Given the description of an element on the screen output the (x, y) to click on. 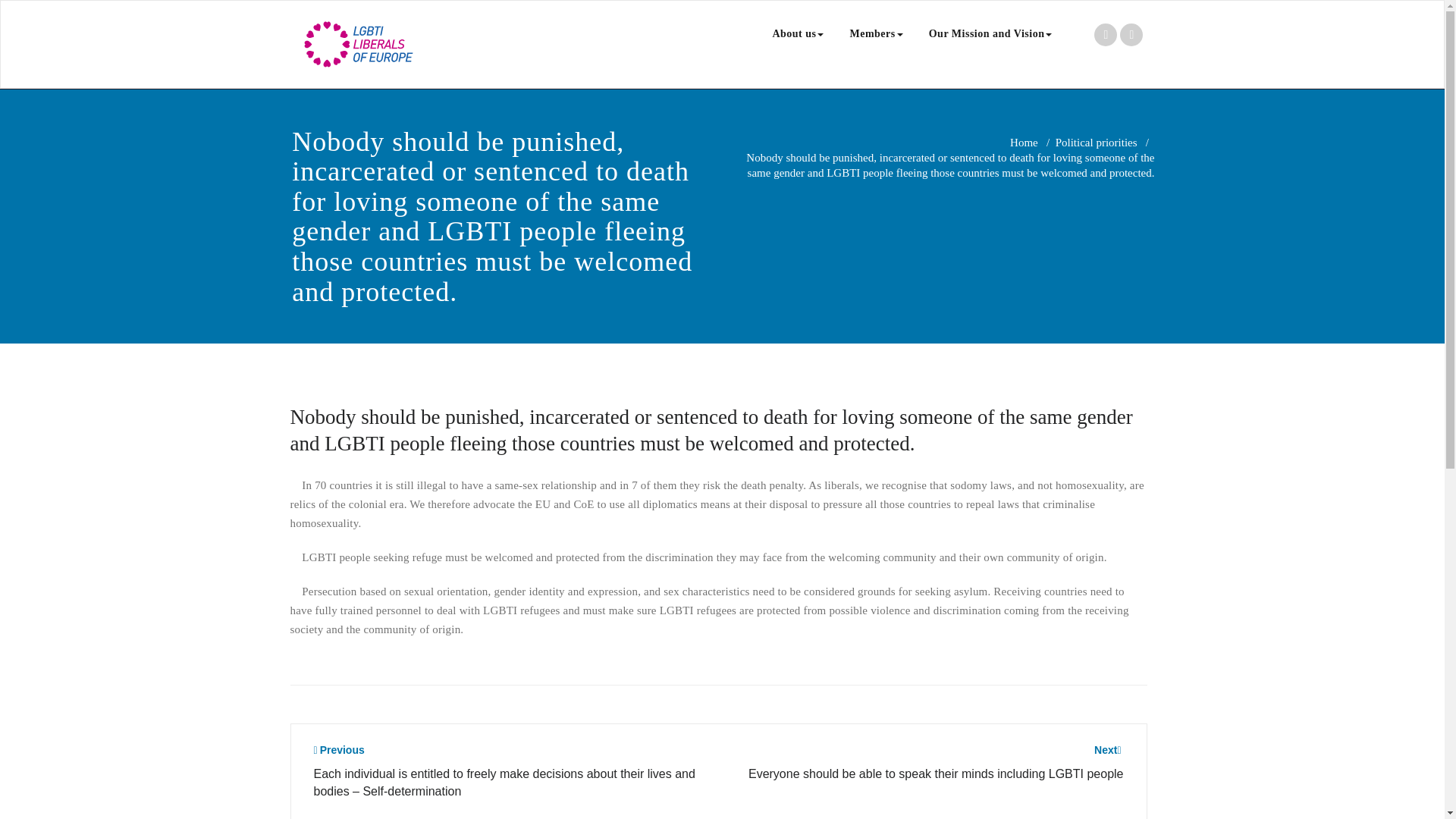
Our Mission and Vision (990, 33)
Political priorities (1096, 142)
Members (875, 33)
LGBTI Liberals of Europe (534, 65)
About us (796, 33)
Home (1024, 142)
